Given the description of an element on the screen output the (x, y) to click on. 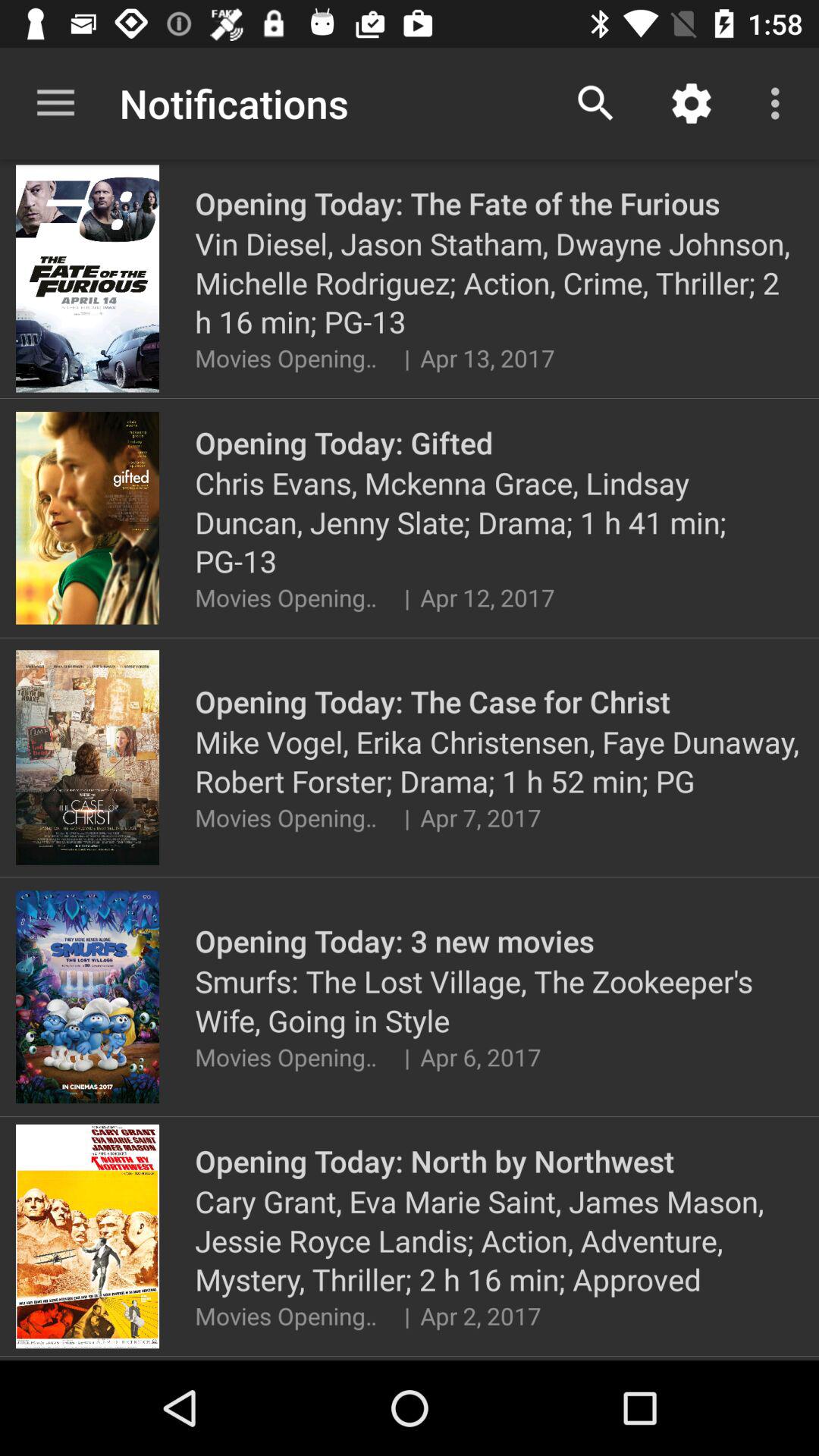
click item to the right of movies opening today (407, 357)
